Given the description of an element on the screen output the (x, y) to click on. 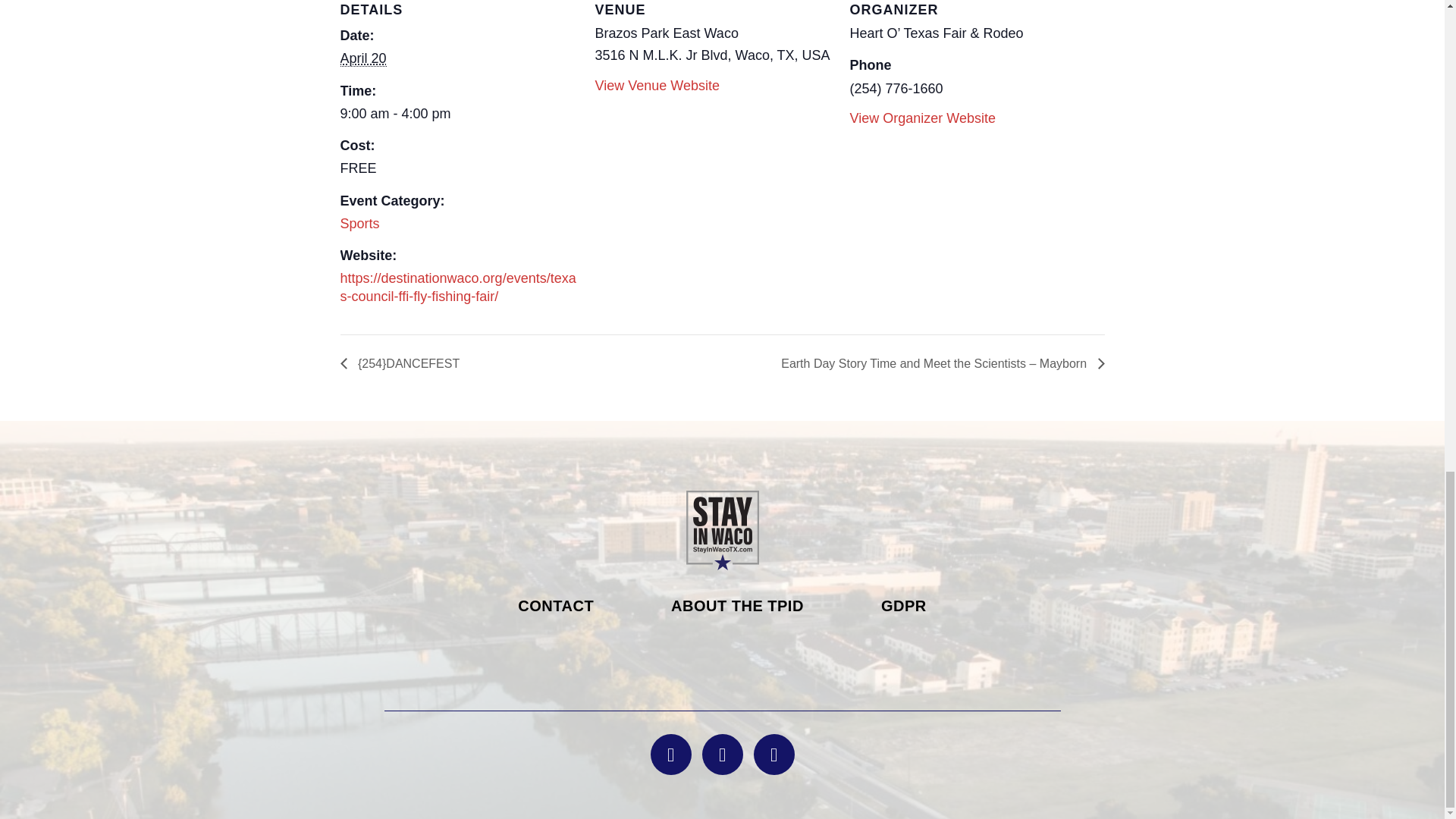
2024-04-20 (457, 113)
ABOUT THE TPID (737, 605)
CONTACT (556, 605)
2024-04-20 (362, 58)
Sports (358, 223)
View Organizer Website (921, 118)
GDPR (903, 605)
View Venue Website (656, 85)
